Given the description of an element on the screen output the (x, y) to click on. 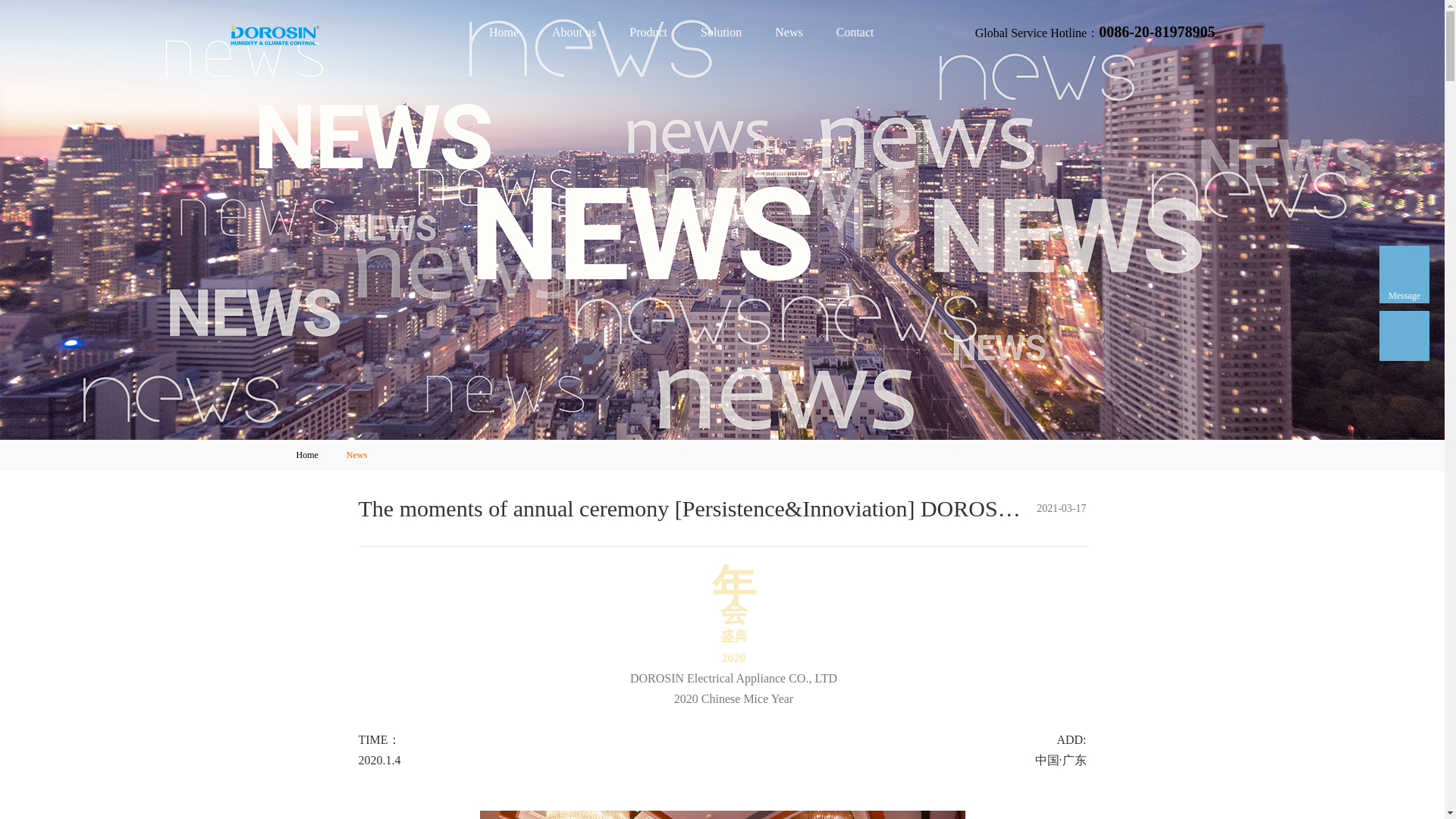
News (788, 32)
Home (504, 32)
Product (648, 32)
Home (308, 454)
1603446279112700.jpg (721, 814)
About us (574, 32)
Solution (721, 32)
News (357, 454)
Contact (855, 32)
